Given the description of an element on the screen output the (x, y) to click on. 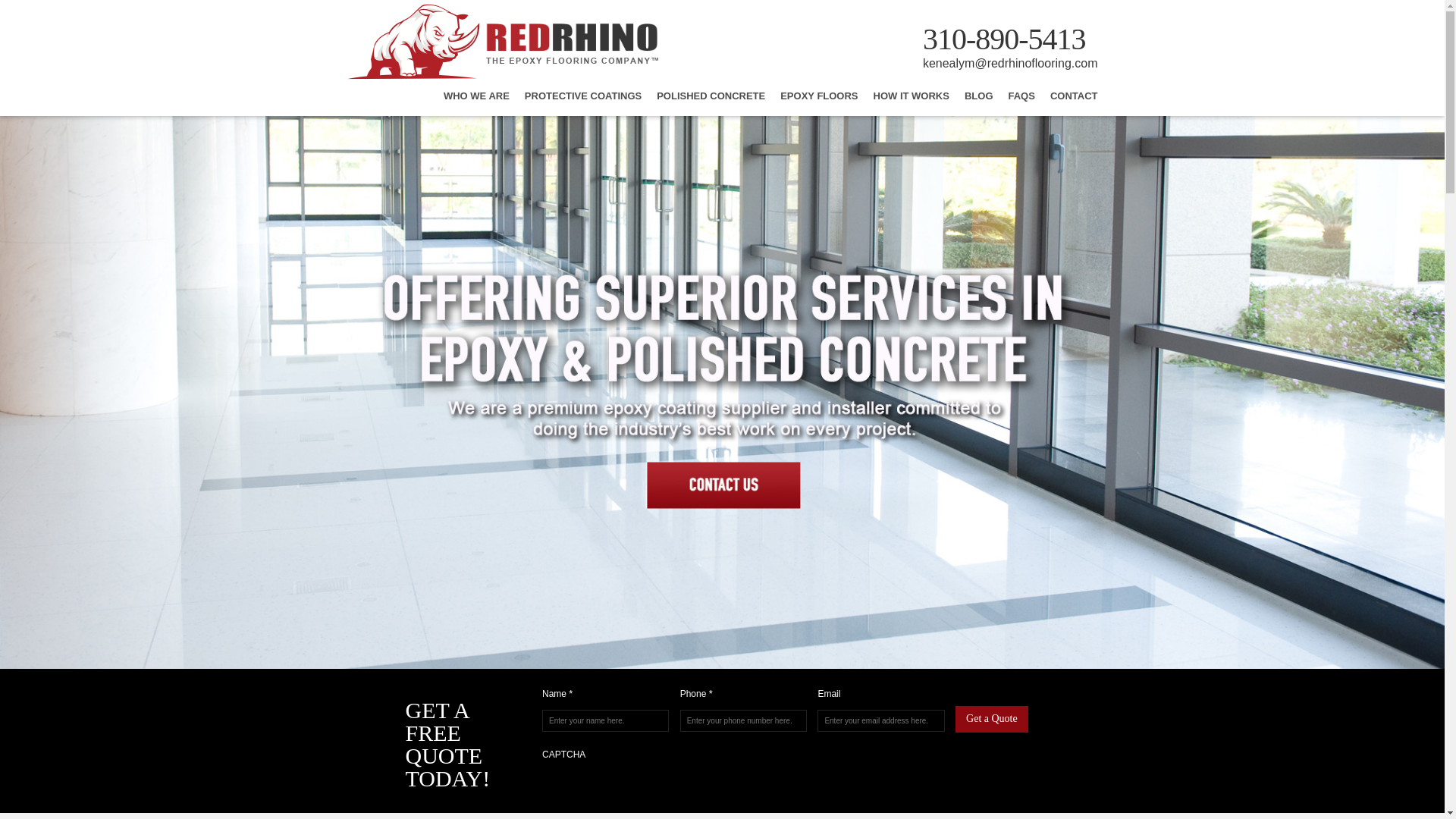
Concrete flooring for commercial residential  (710, 101)
POLISHED CONCRETE (710, 101)
Get a Quote (991, 718)
310-890-5413 (1004, 39)
Flooring solutions overview (583, 101)
EPOXY FLOORS (818, 101)
PROTECTIVE COATINGS (583, 101)
CONTACT (1073, 101)
Epoxy Flooring Company Homepage (502, 75)
BLOG (977, 101)
HOW IT WORKS (911, 101)
FAQS (1022, 101)
WHO WE ARE (476, 101)
Epoxy flooring Installation process (911, 101)
